Given the description of an element on the screen output the (x, y) to click on. 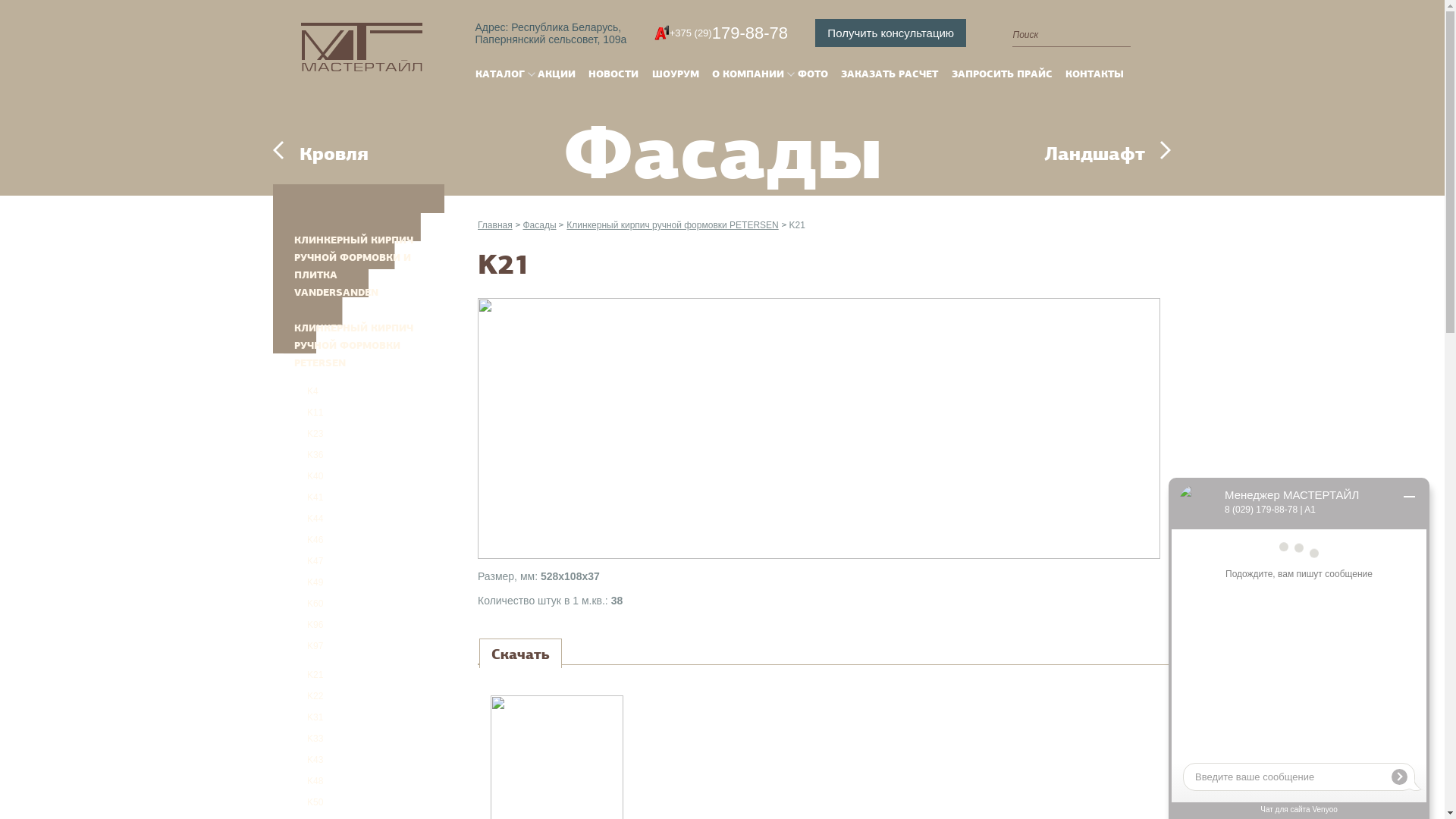
K23 Element type: text (298, 433)
K49 Element type: text (298, 582)
K97 Element type: text (298, 645)
K33 Element type: text (298, 738)
K60 Element type: text (298, 603)
K31 Element type: text (298, 717)
K22 Element type: text (298, 695)
K48 Element type: text (298, 780)
K11 Element type: text (298, 412)
K46 Element type: text (298, 539)
K50 Element type: text (298, 801)
K47 Element type: text (298, 560)
K44 Element type: text (298, 518)
K96 Element type: text (298, 624)
+375 (29)
179-88-78 Element type: text (720, 32)
K43 Element type: text (298, 759)
K36 Element type: text (298, 454)
K21 Element type: text (362, 674)
K41 Element type: text (298, 497)
K4 Element type: text (295, 390)
K21 Element type: text (797, 224)
K40 Element type: text (298, 475)
